Given the description of an element on the screen output the (x, y) to click on. 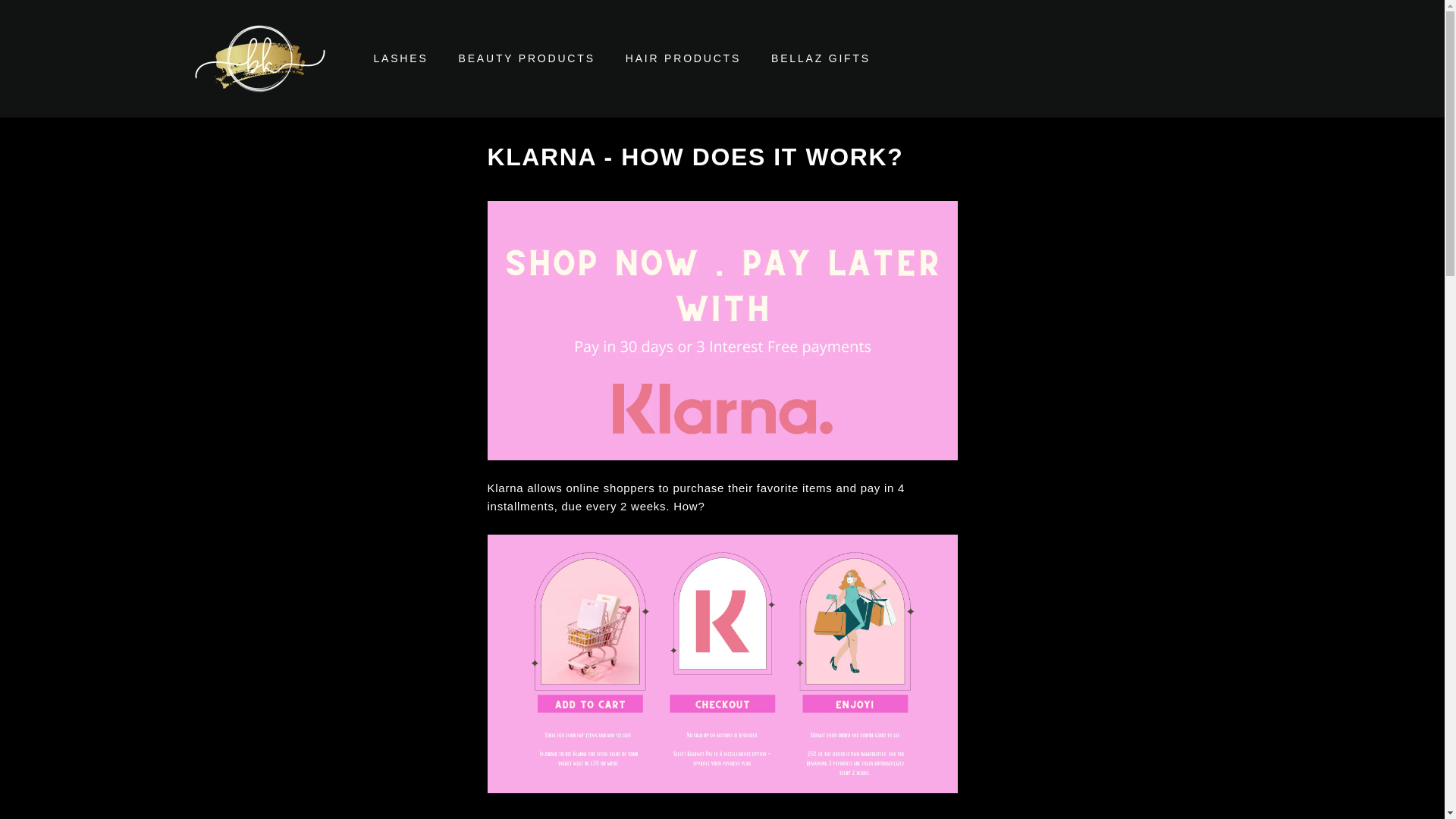
BEAUTY PRODUCTS (527, 57)
BELLAZ GIFTS (820, 57)
HAIR PRODUCTS (682, 57)
LASHES (400, 57)
